Given the description of an element on the screen output the (x, y) to click on. 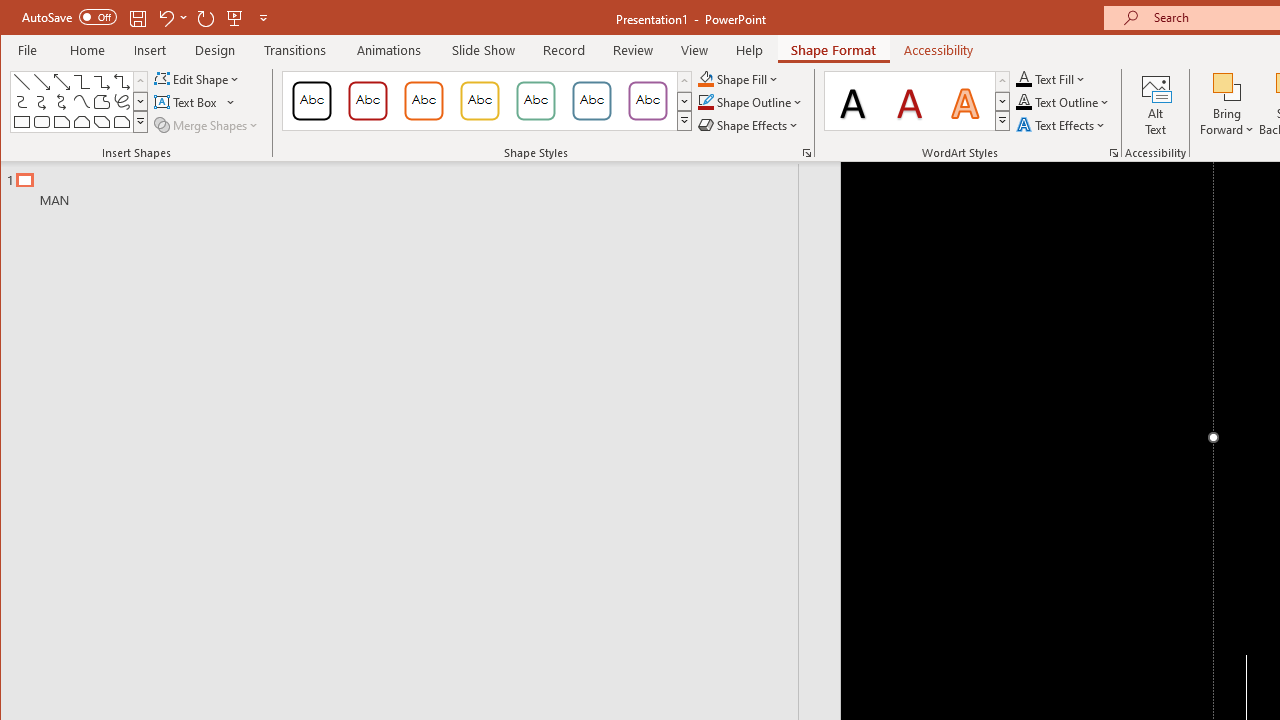
Connector: Elbow Double-Arrow (121, 82)
AutomationID: TextStylesGallery (917, 101)
Merge Shapes (207, 124)
Connector: Curved Arrow (42, 102)
